Given the description of an element on the screen output the (x, y) to click on. 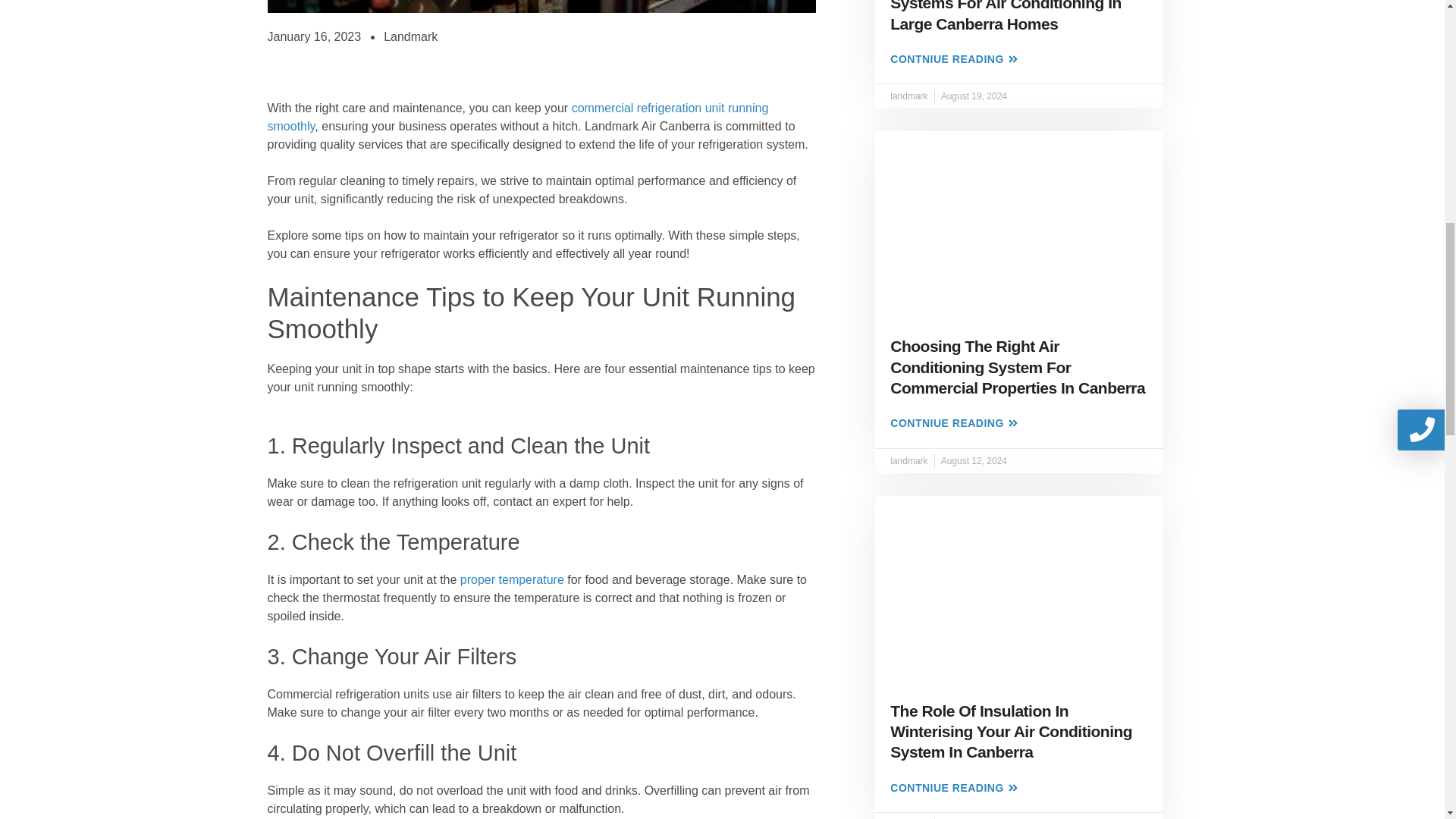
commercial refrigeration unit running smoothly (517, 116)
CONTNIUE READING (953, 60)
August 19, 2024 (973, 96)
landmark (908, 96)
CONTNIUE READING (953, 423)
January 16, 2023 (313, 36)
Landmark (411, 36)
proper temperature (512, 579)
